Given the description of an element on the screen output the (x, y) to click on. 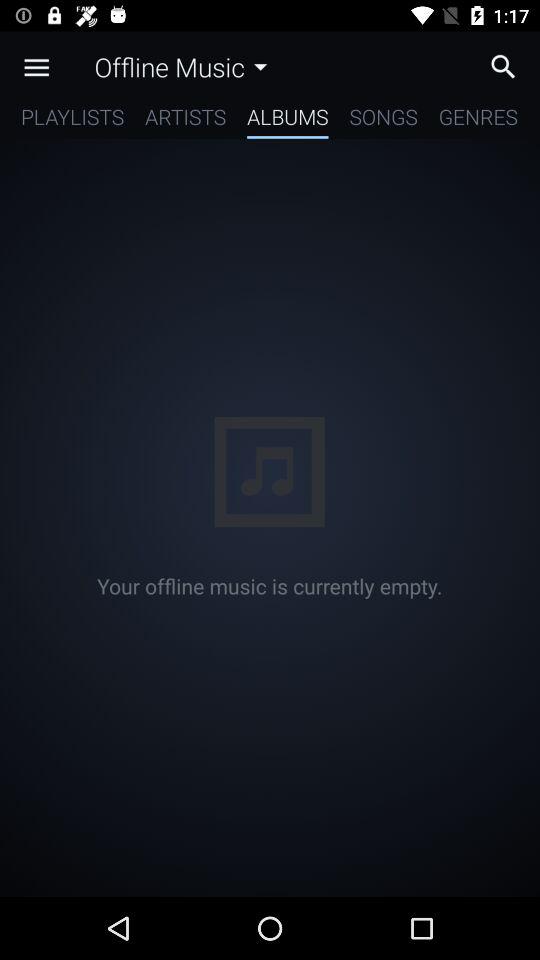
search music (508, 66)
